Given the description of an element on the screen output the (x, y) to click on. 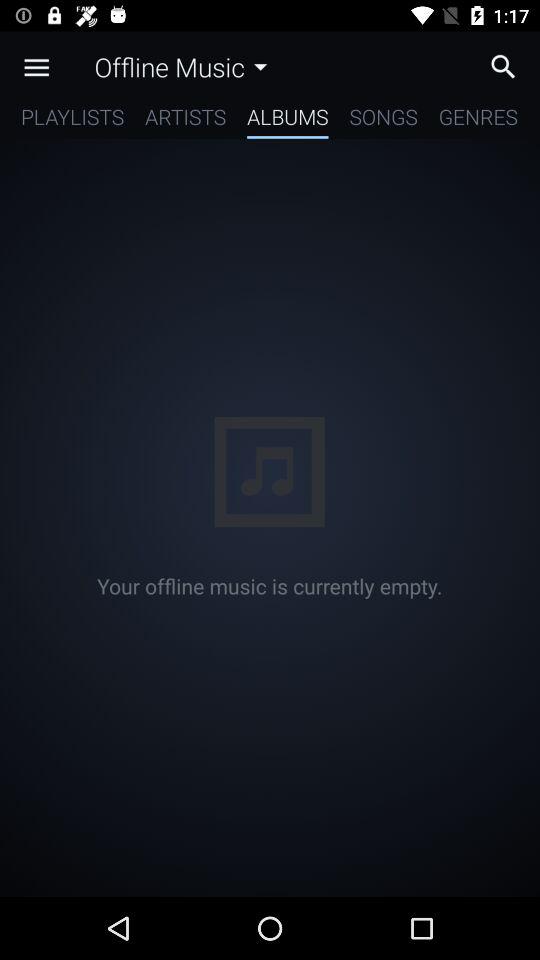
search music (508, 66)
